Given the description of an element on the screen output the (x, y) to click on. 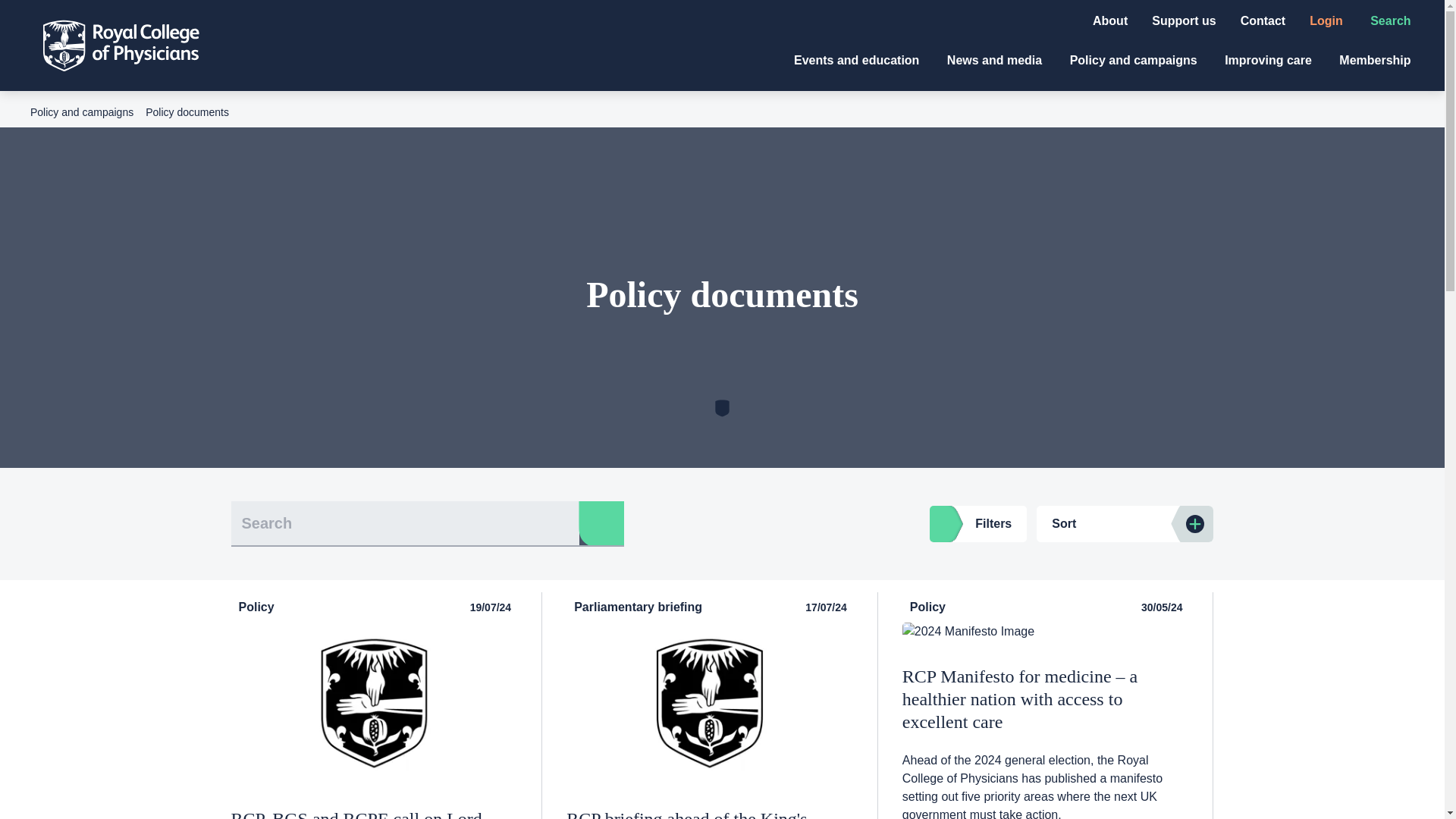
About (1109, 20)
News and media (996, 60)
Support us (1183, 20)
Contact (1262, 20)
Policy and campaigns (1135, 60)
Login (1326, 20)
Improving care (1269, 60)
